Given the description of an element on the screen output the (x, y) to click on. 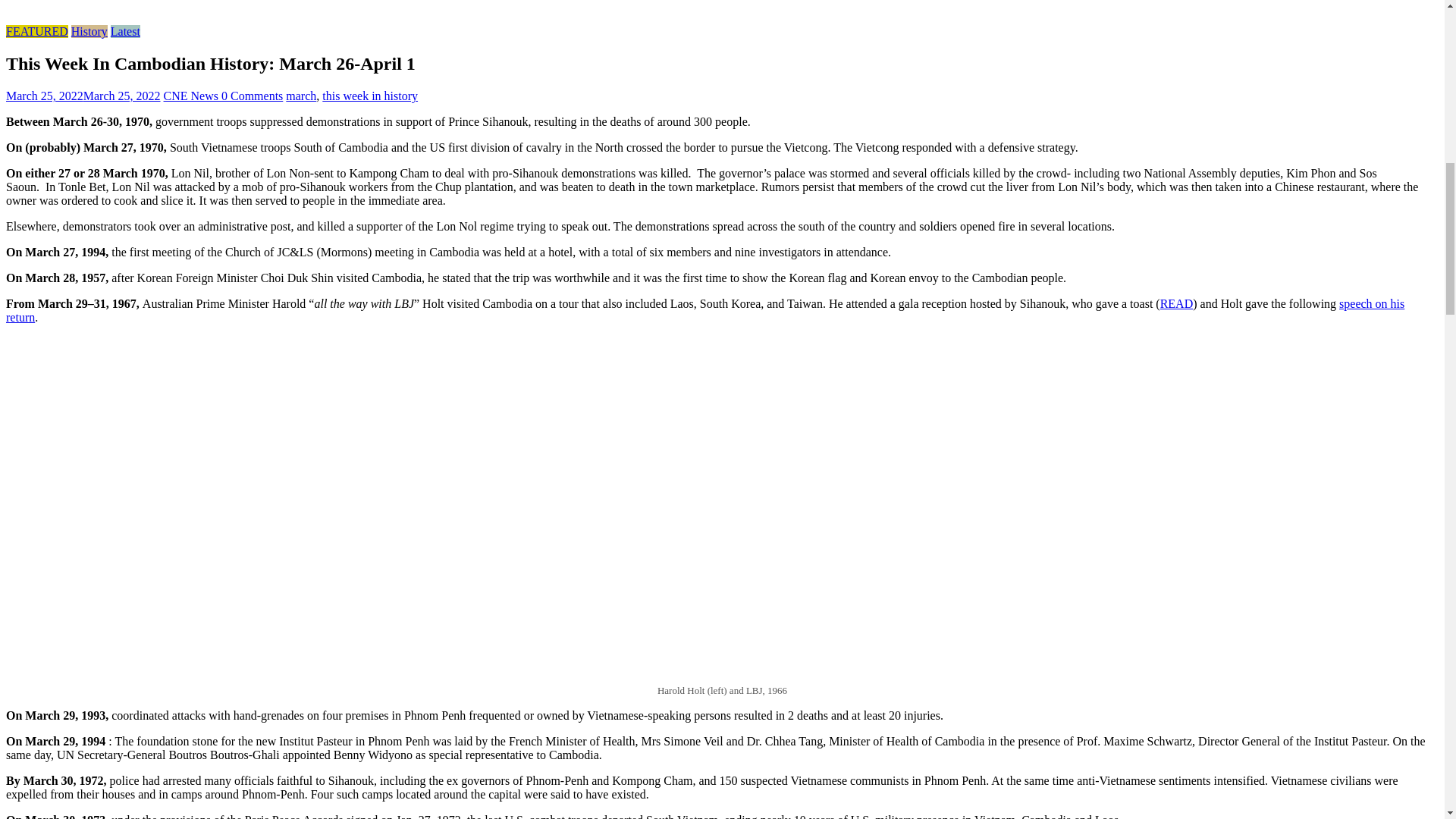
speech on his return (705, 310)
March 25, 2022March 25, 2022 (82, 95)
READ (1176, 303)
9:19 am (82, 95)
march (300, 95)
FEATURED (36, 31)
History (89, 31)
Latest (124, 31)
0 Comments (251, 95)
this week in history (369, 95)
